Given the description of an element on the screen output the (x, y) to click on. 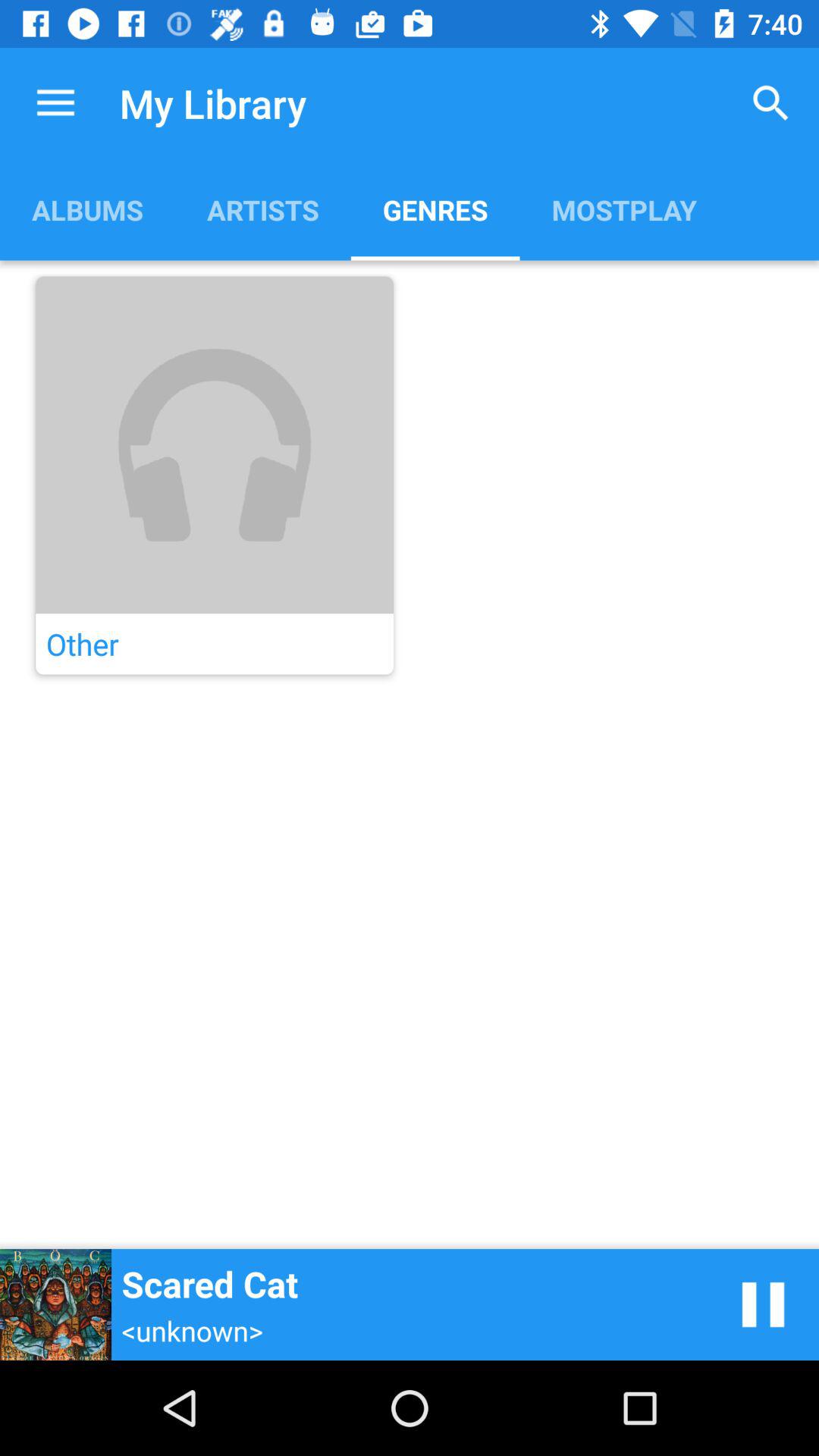
choose the app next to artists item (87, 209)
